Given the description of an element on the screen output the (x, y) to click on. 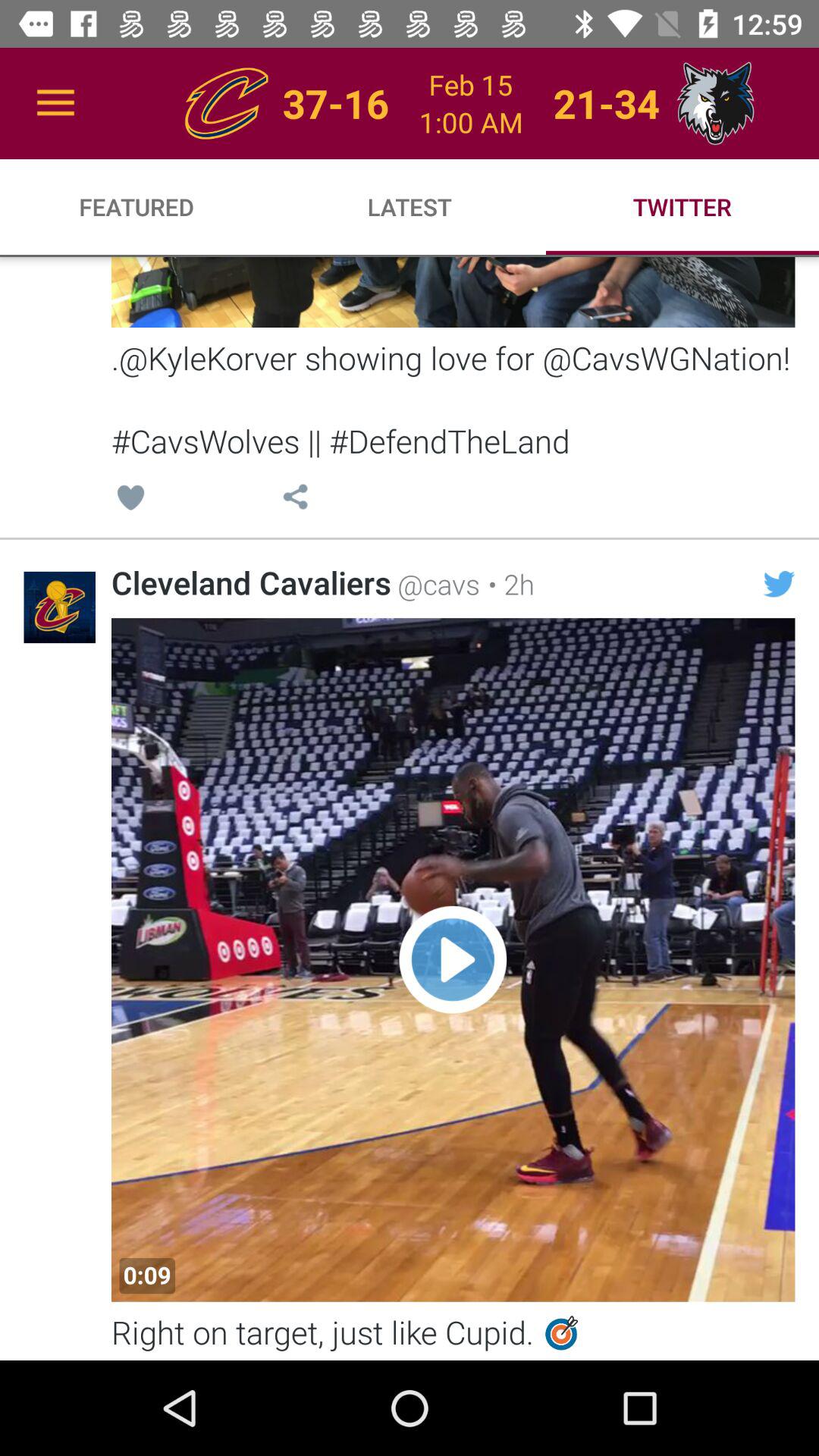
select the item below kylekorver showing love item (131, 499)
